Given the description of an element on the screen output the (x, y) to click on. 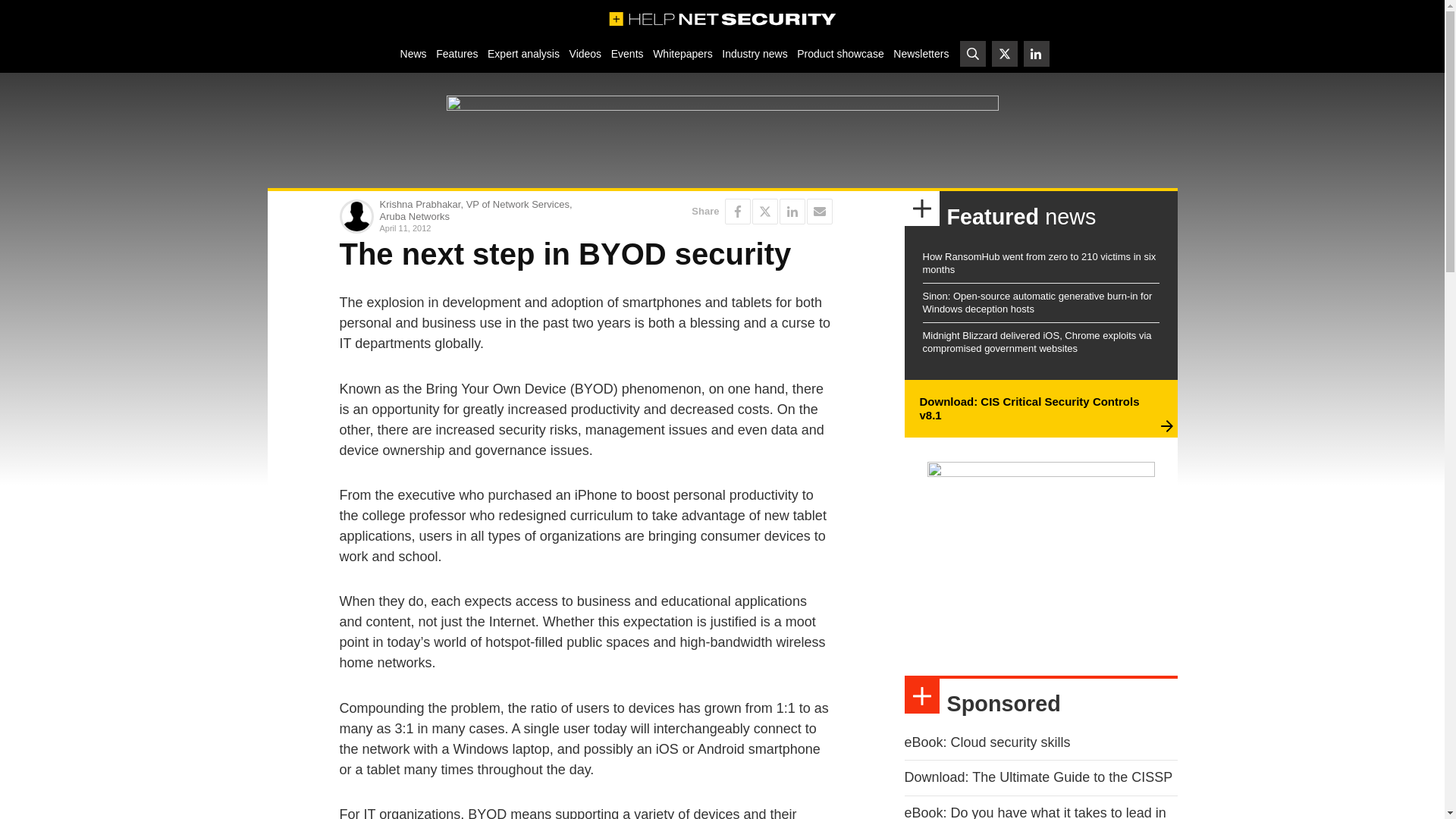
eBook: Do you have what it takes to lead in cybersecurity? (1035, 812)
Share The next step in BYOD security on Twitter (764, 211)
eBook: Cloud security skills (987, 742)
Share The next step in BYOD security via E-mail (819, 211)
Product showcase (840, 53)
April 11, 2012 (478, 227)
Newsletters (920, 53)
How RansomHub went from zero to 210 victims in six months (1038, 262)
Features (456, 53)
